Given the description of an element on the screen output the (x, y) to click on. 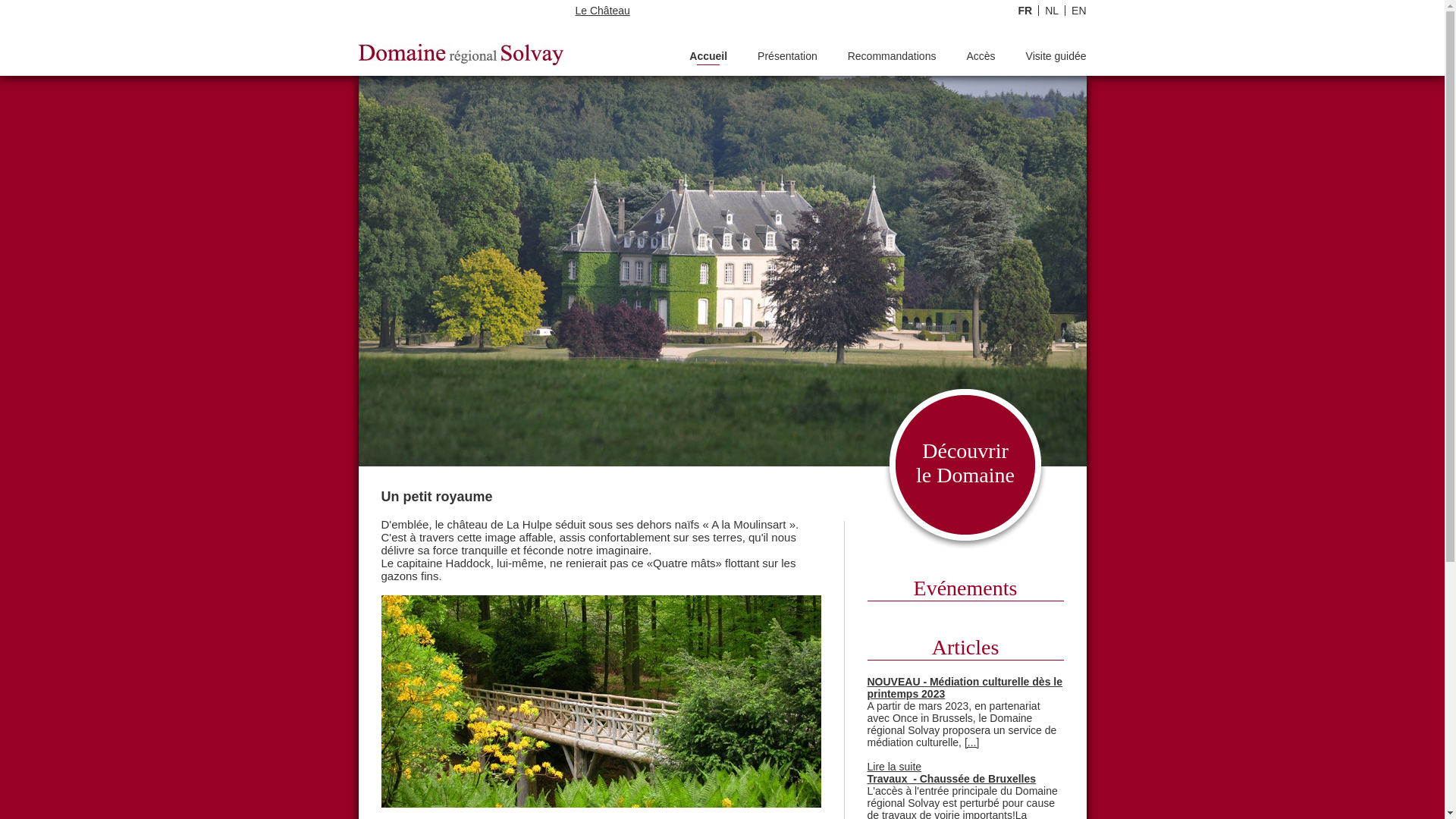
Accueil Element type: text (708, 57)
Recommandations Element type: text (891, 57)
FR Element type: text (1024, 10)
accueil-illu_content Element type: hover (600, 701)
[...] Element type: text (971, 742)
EN Element type: text (1074, 10)
NL Element type: text (1048, 10)
Lire la suite Element type: text (894, 766)
